Given the description of an element on the screen output the (x, y) to click on. 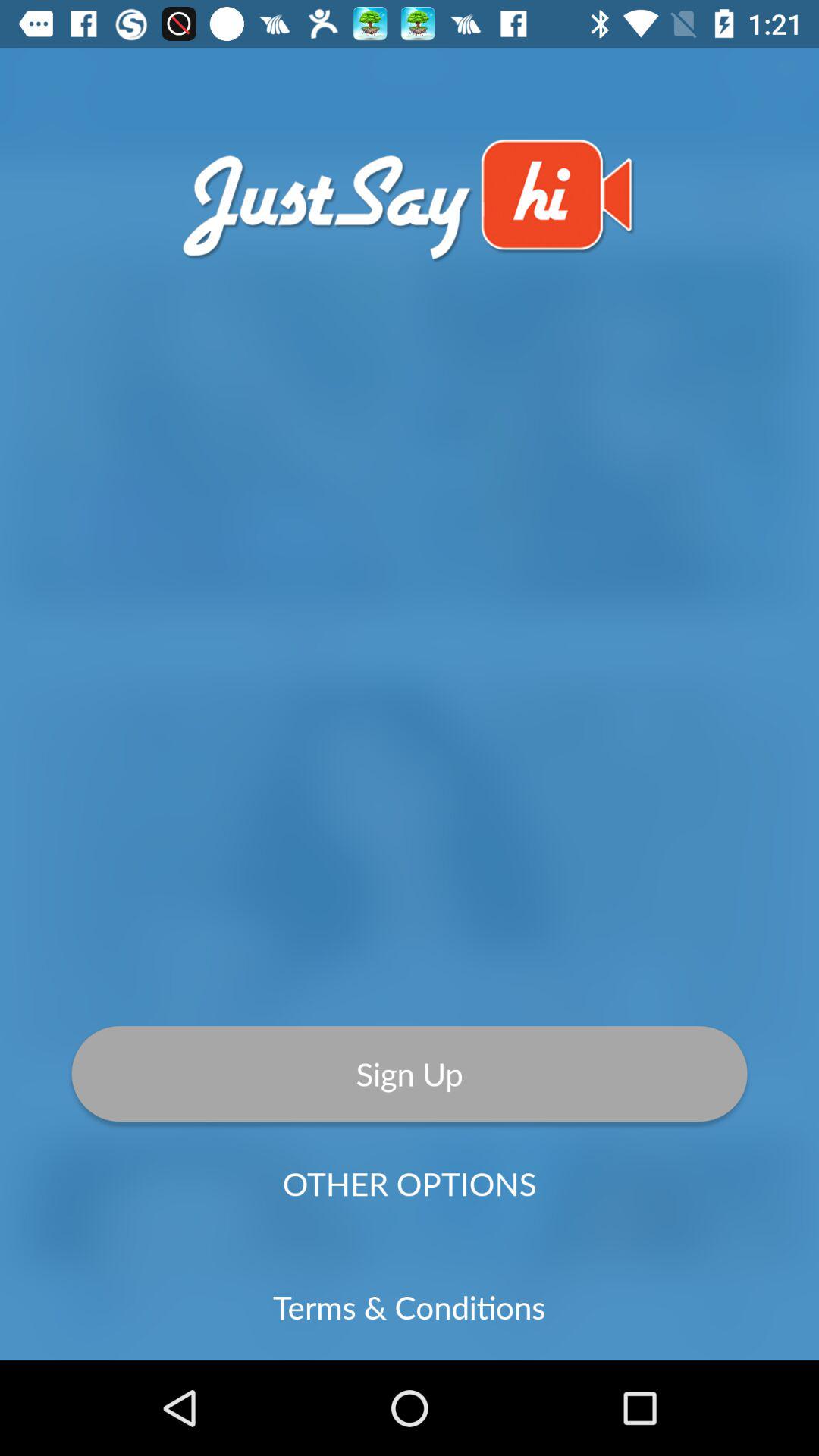
choose the item above the terms & conditions (409, 1183)
